Given the description of an element on the screen output the (x, y) to click on. 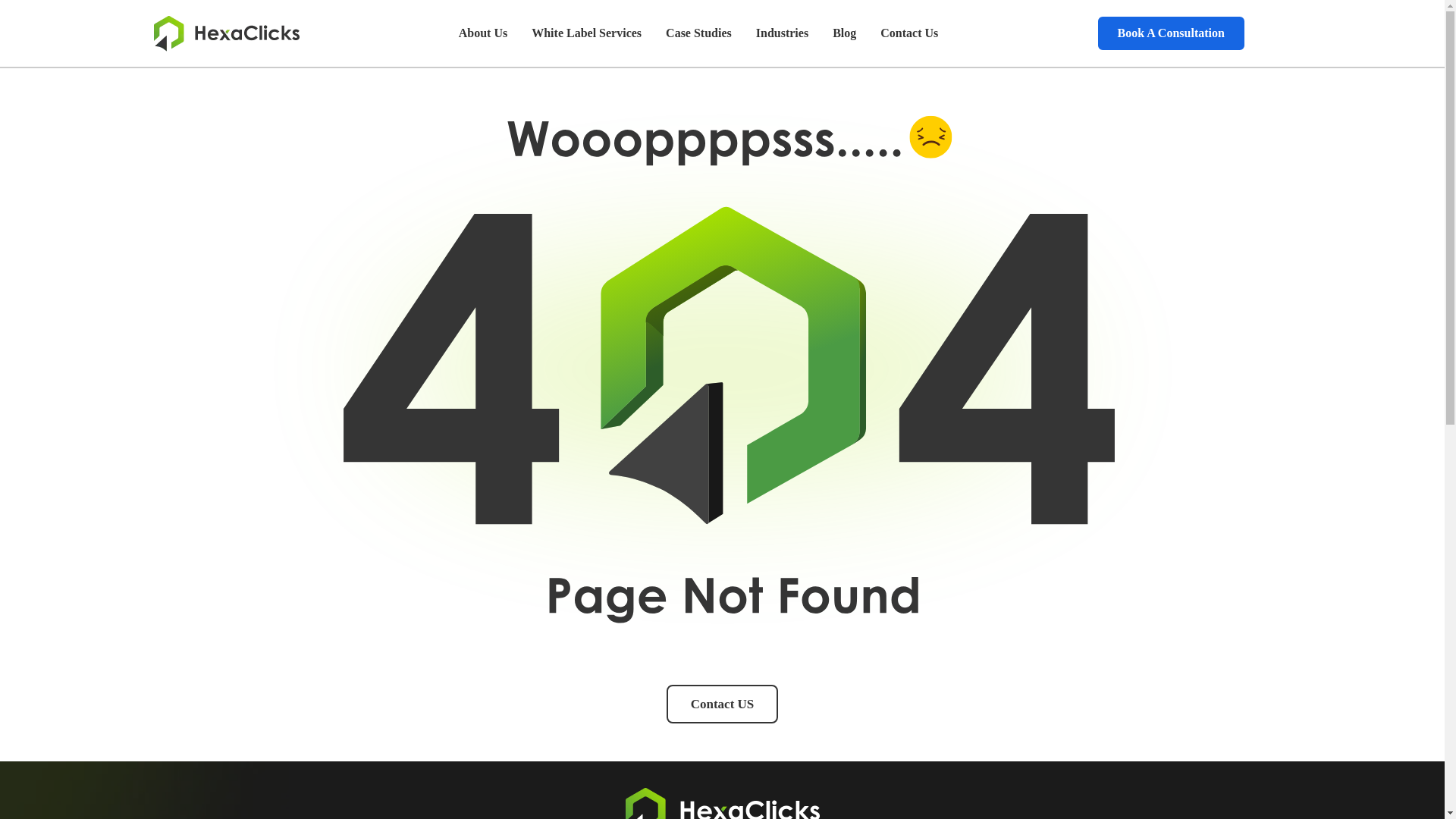
About Us (482, 32)
Case Studies (698, 32)
Blog (844, 32)
Industries (782, 32)
White Label Services (586, 32)
Contact Us (908, 32)
